Given the description of an element on the screen output the (x, y) to click on. 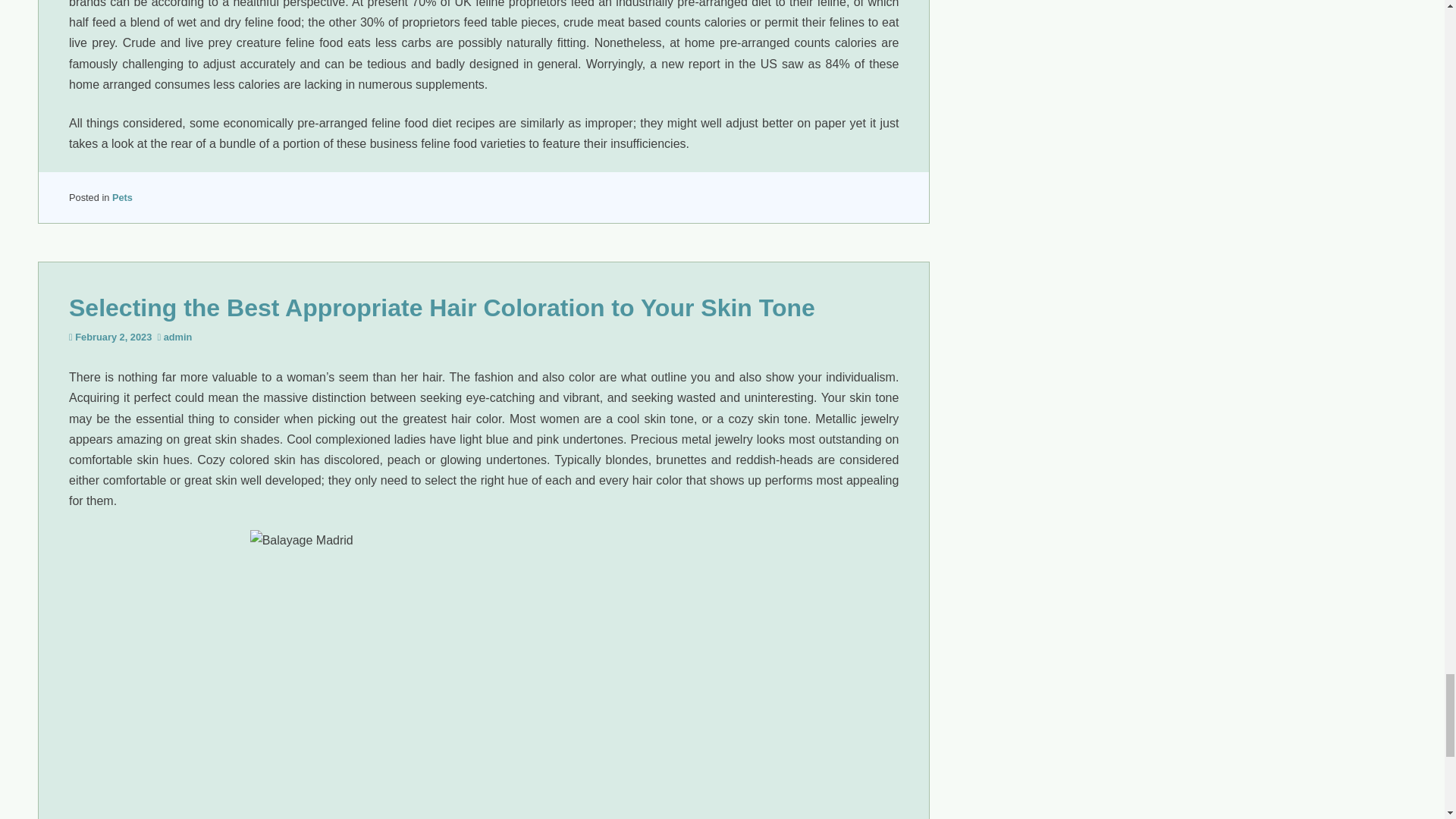
Pets (122, 197)
